Given the description of an element on the screen output the (x, y) to click on. 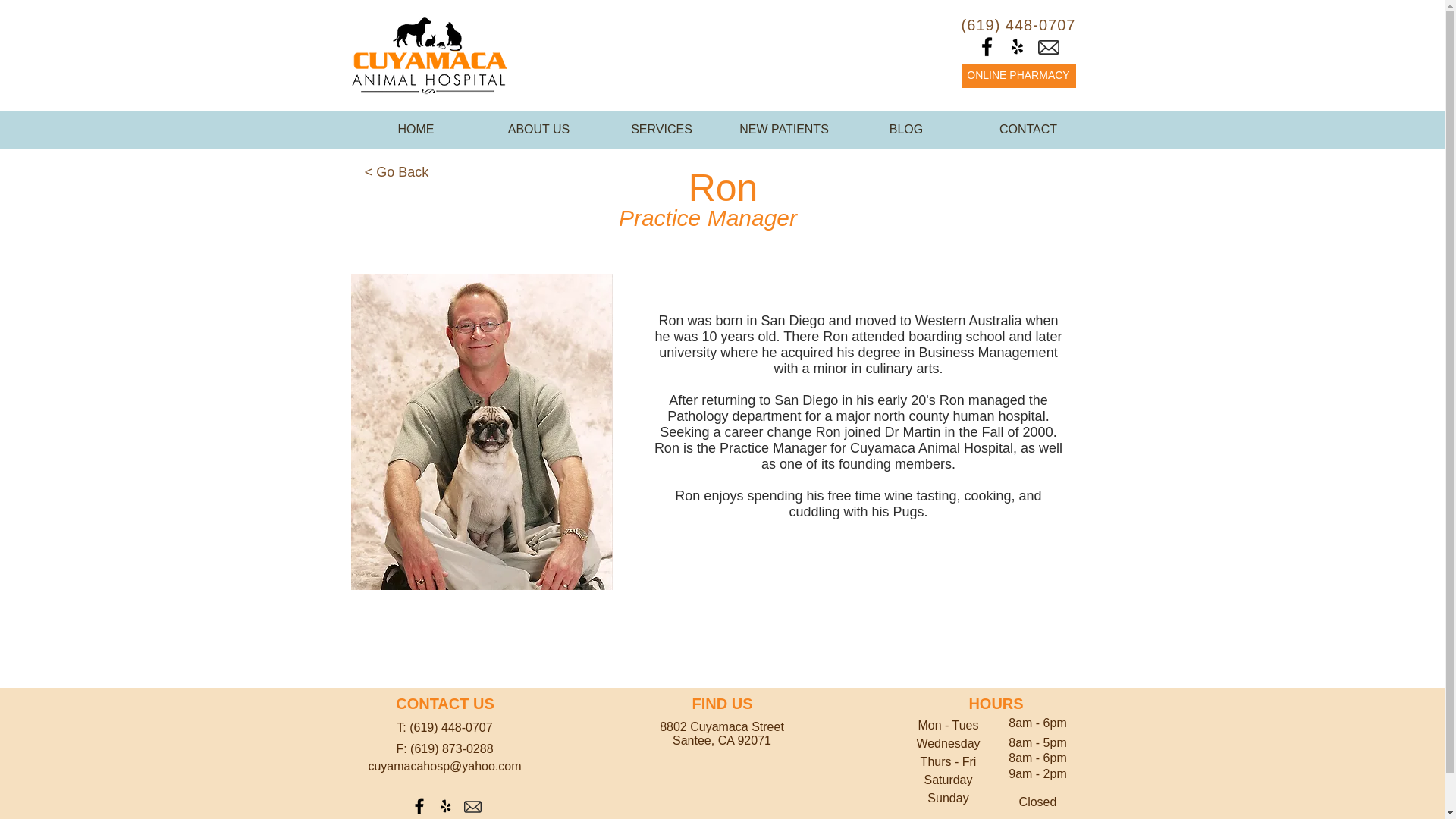
HOME (416, 129)
ONLINE PHARMACY (1017, 75)
9am - 2pm (1037, 773)
BLOG (905, 129)
ABOUT US (538, 129)
8am - 6pm (1037, 757)
NEW PATIENTS (784, 129)
CONTACT (1028, 129)
Mon - Tues (947, 725)
8802 Cuyamaca Street (721, 726)
